Given the description of an element on the screen output the (x, y) to click on. 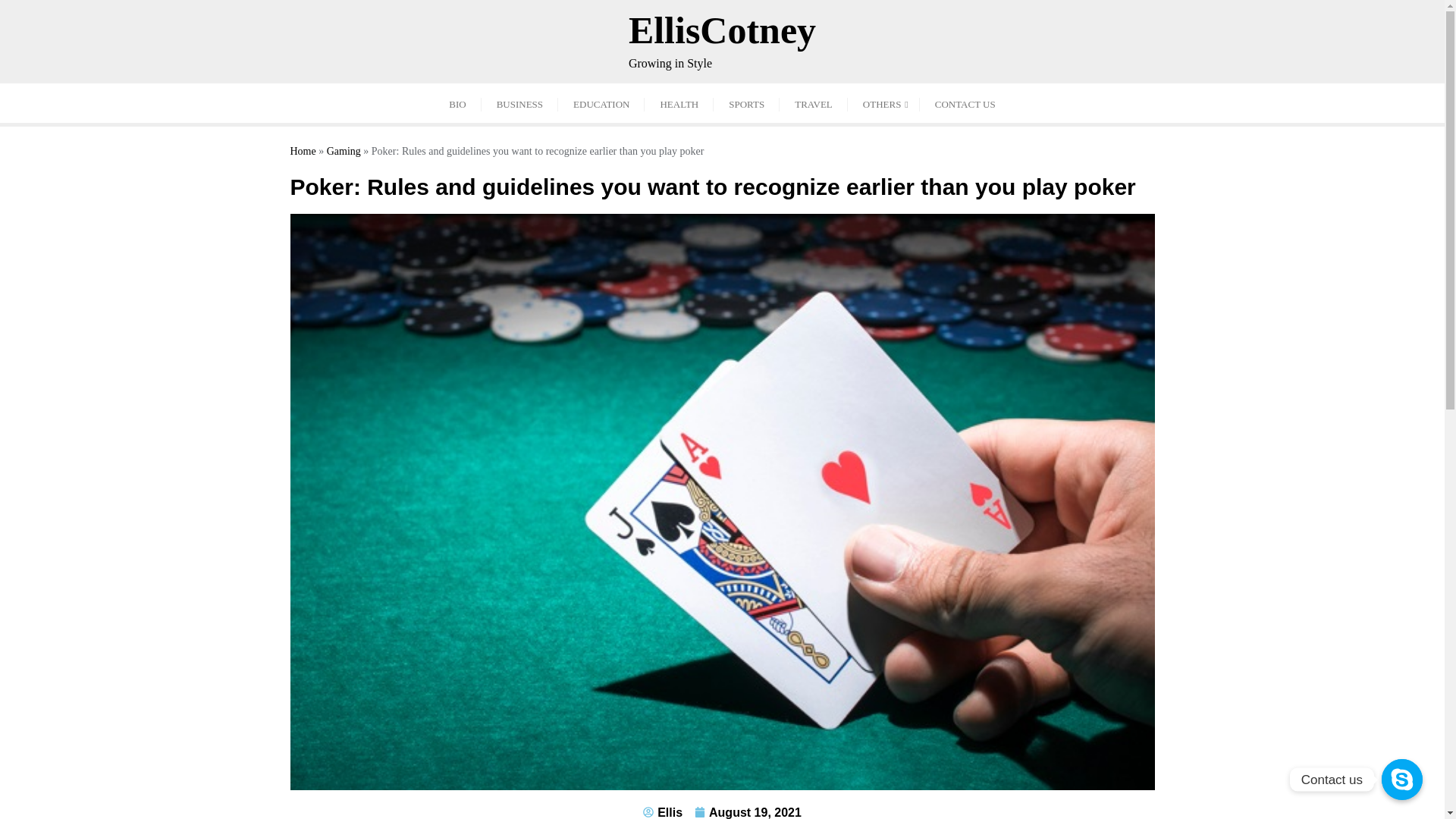
OTHERS (883, 102)
TRAVEL (812, 102)
SPORTS (745, 102)
Gaming (343, 151)
Home (721, 41)
CONTACT US (302, 151)
EDUCATION (965, 102)
Ellis (601, 102)
BIO (662, 812)
August 19, 2021 (456, 102)
BUSINESS (748, 812)
HEALTH (519, 102)
